Given the description of an element on the screen output the (x, y) to click on. 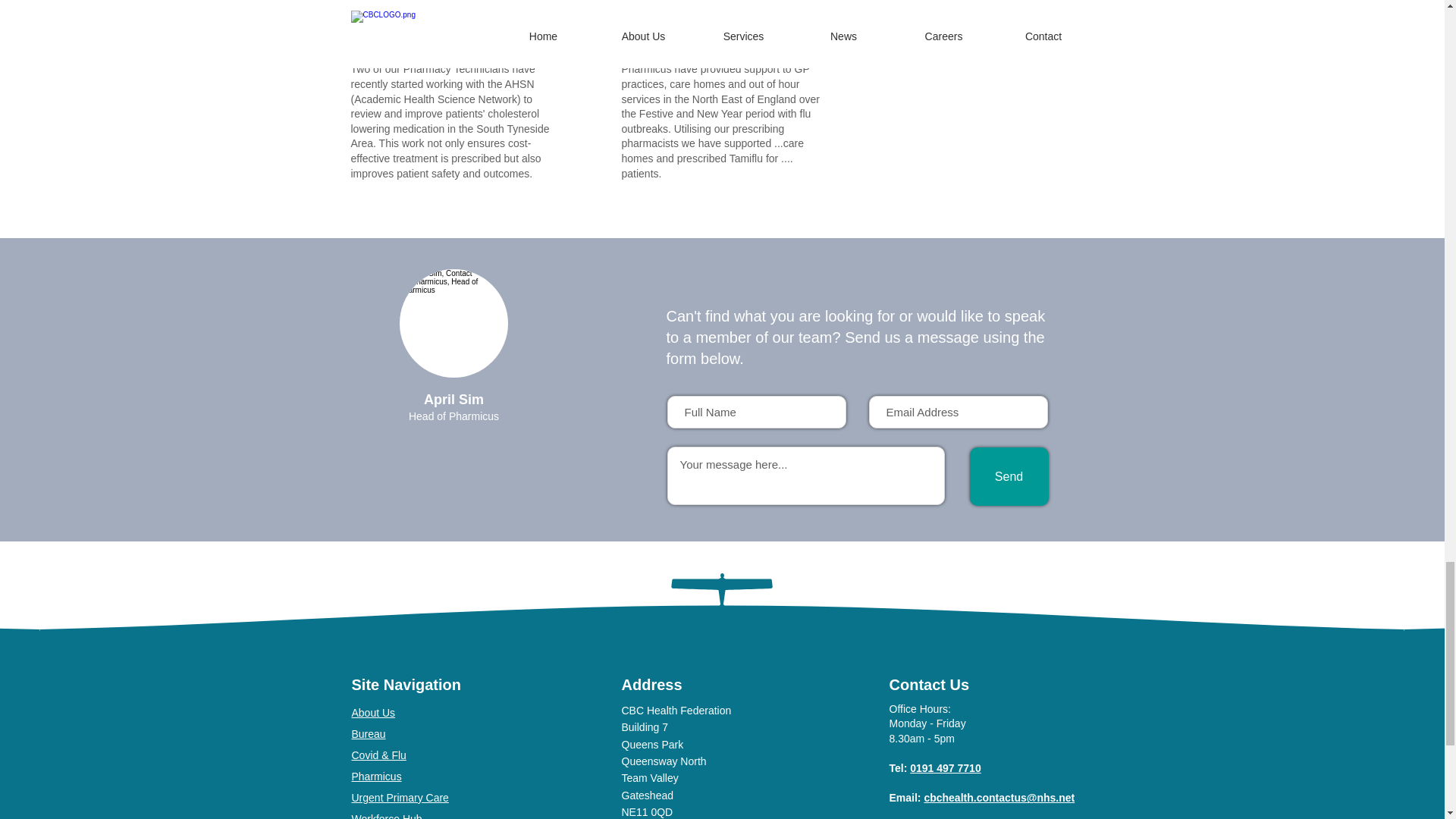
Send (1008, 476)
About Us (374, 712)
Pharmicus (376, 776)
Bureau (368, 734)
Urgent Primary Care (400, 797)
Workforce Hub (387, 816)
